Given the description of an element on the screen output the (x, y) to click on. 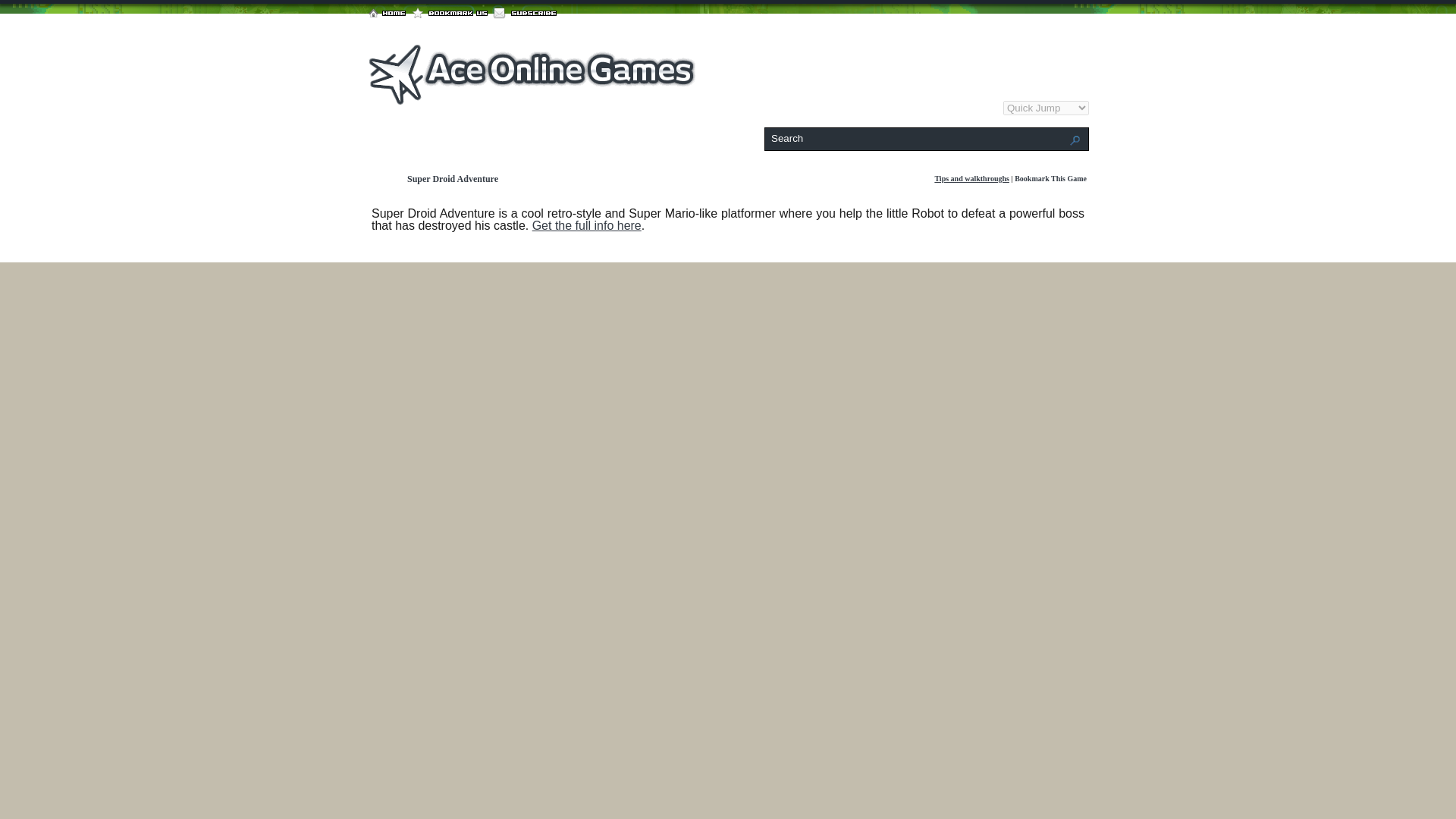
Tips and walkthroughs (971, 178)
Shooter (856, 108)
Puzzles (818, 108)
Adventure (774, 108)
Search (919, 138)
Classics (896, 108)
Ace Online Games (532, 100)
Fighting (979, 108)
Bookmark This Game (1050, 178)
cheats and walthroughs for Super Droid Adventure (971, 178)
